Given the description of an element on the screen output the (x, y) to click on. 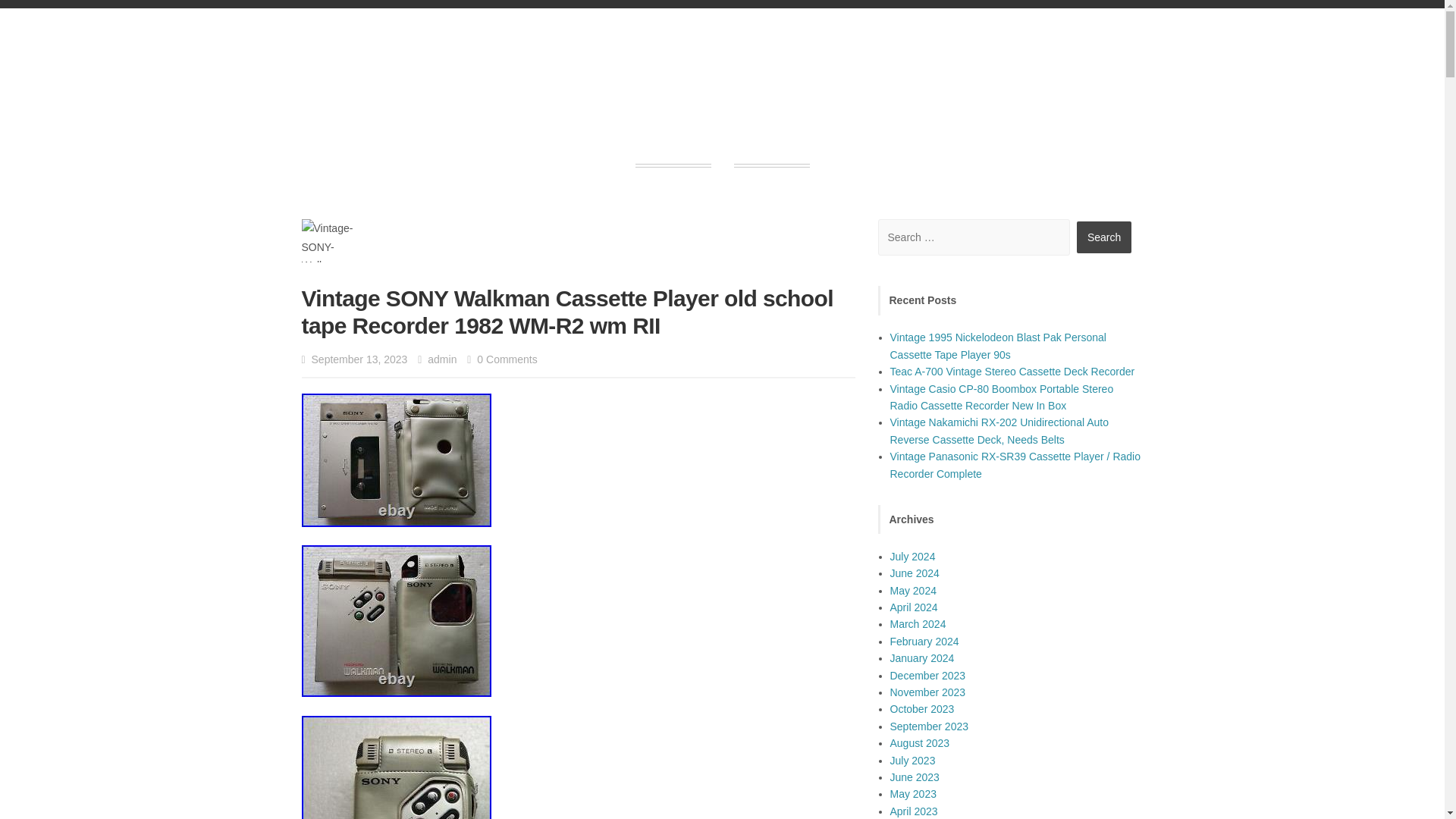
December 2023 (927, 675)
January 2024 (922, 657)
July 2024 (912, 556)
Teac A-700 Vintage Stereo Cassette Deck Recorder (1012, 371)
April 2024 (913, 607)
September 2023 (929, 726)
May 2024 (912, 590)
VINTAGE CASSETTE RECORDER (722, 91)
October 2023 (922, 708)
June 2024 (914, 573)
August 2023 (919, 743)
June 2023 (914, 776)
